Given the description of an element on the screen output the (x, y) to click on. 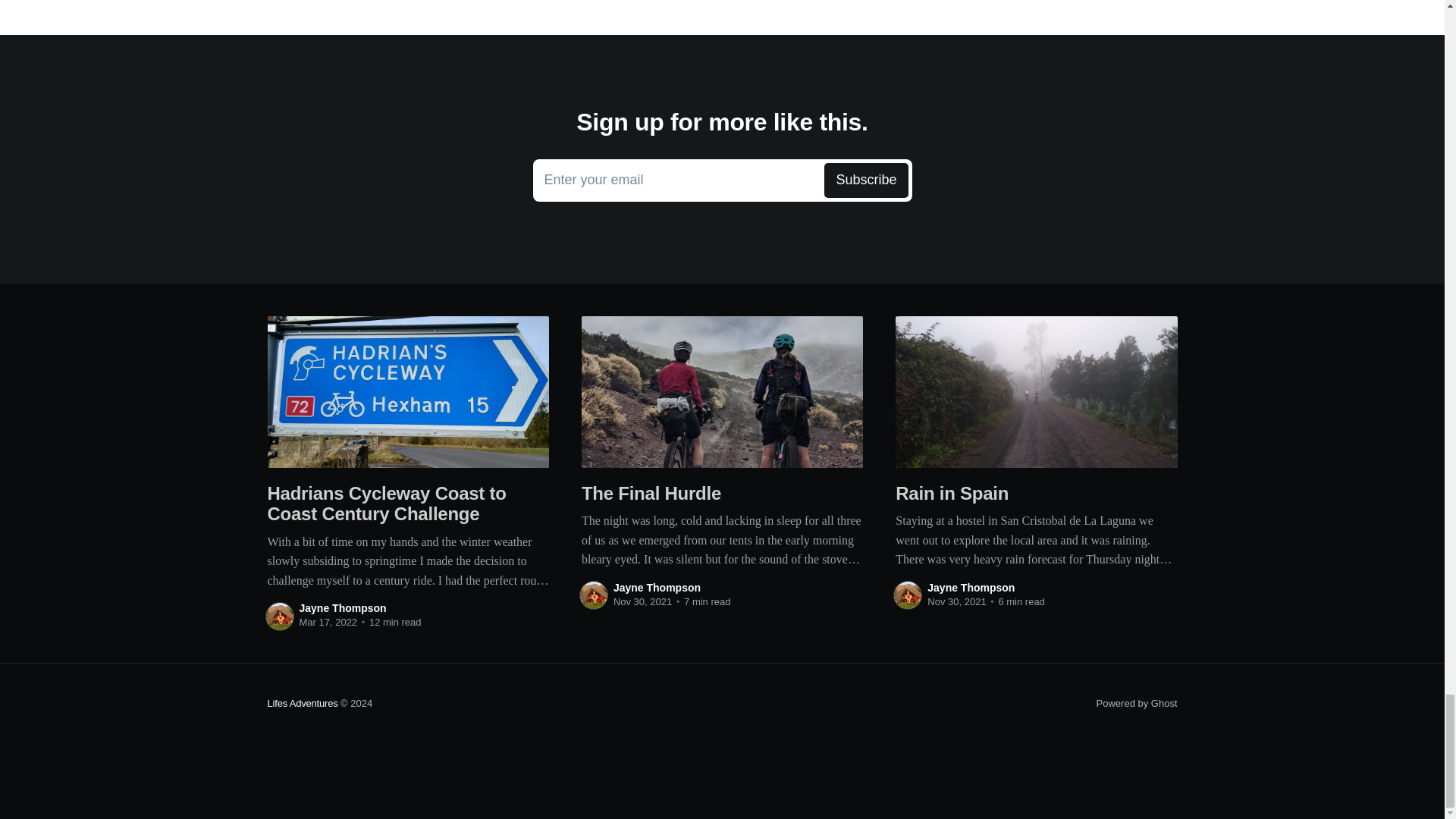
Lifes Adventures (301, 703)
Powered by Ghost (1136, 703)
Jayne Thompson (970, 587)
Jayne Thompson (721, 179)
Jayne Thompson (656, 587)
